Given the description of an element on the screen output the (x, y) to click on. 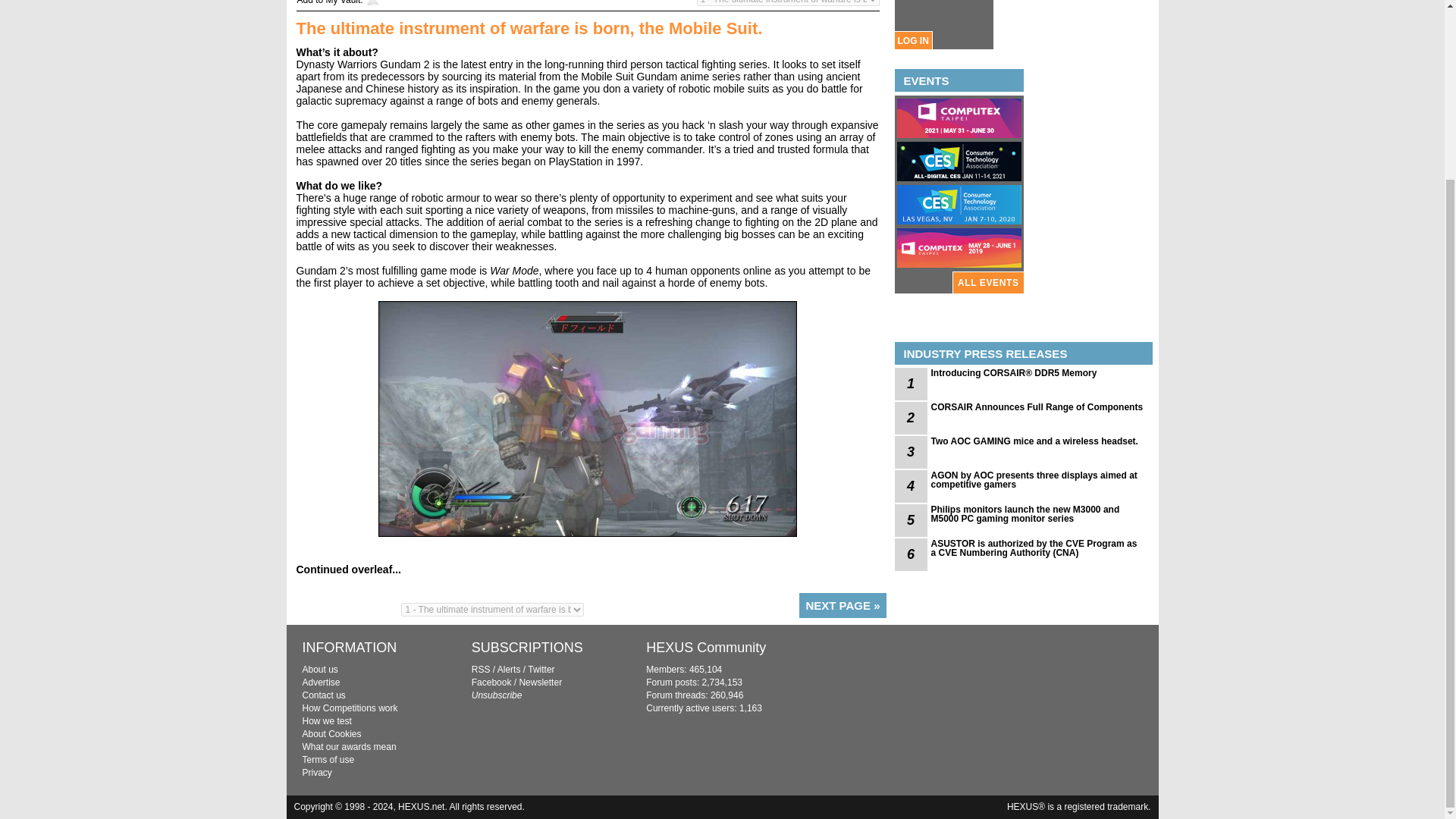
Two AOC GAMING mice and a wireless headset. (1036, 440)
ALL EVENTS (987, 282)
LOG IN (912, 40)
3 (911, 451)
1 (911, 383)
My Vault (343, 2)
2 (911, 418)
CORSAIR Announces Full Range of Components (1036, 406)
